Given the description of an element on the screen output the (x, y) to click on. 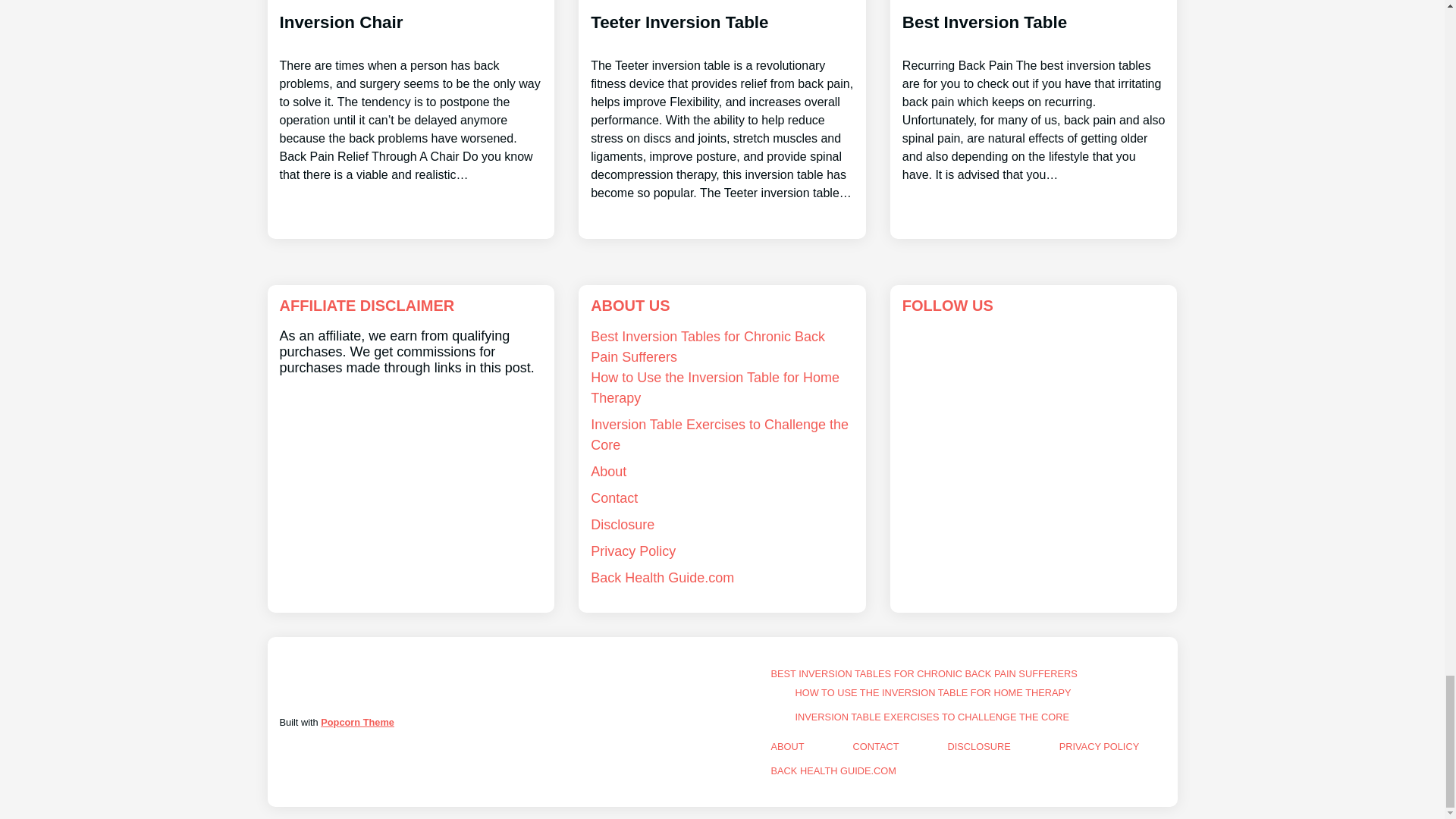
Inversion Chair (410, 92)
Teeter Inversion Table (722, 101)
